Given the description of an element on the screen output the (x, y) to click on. 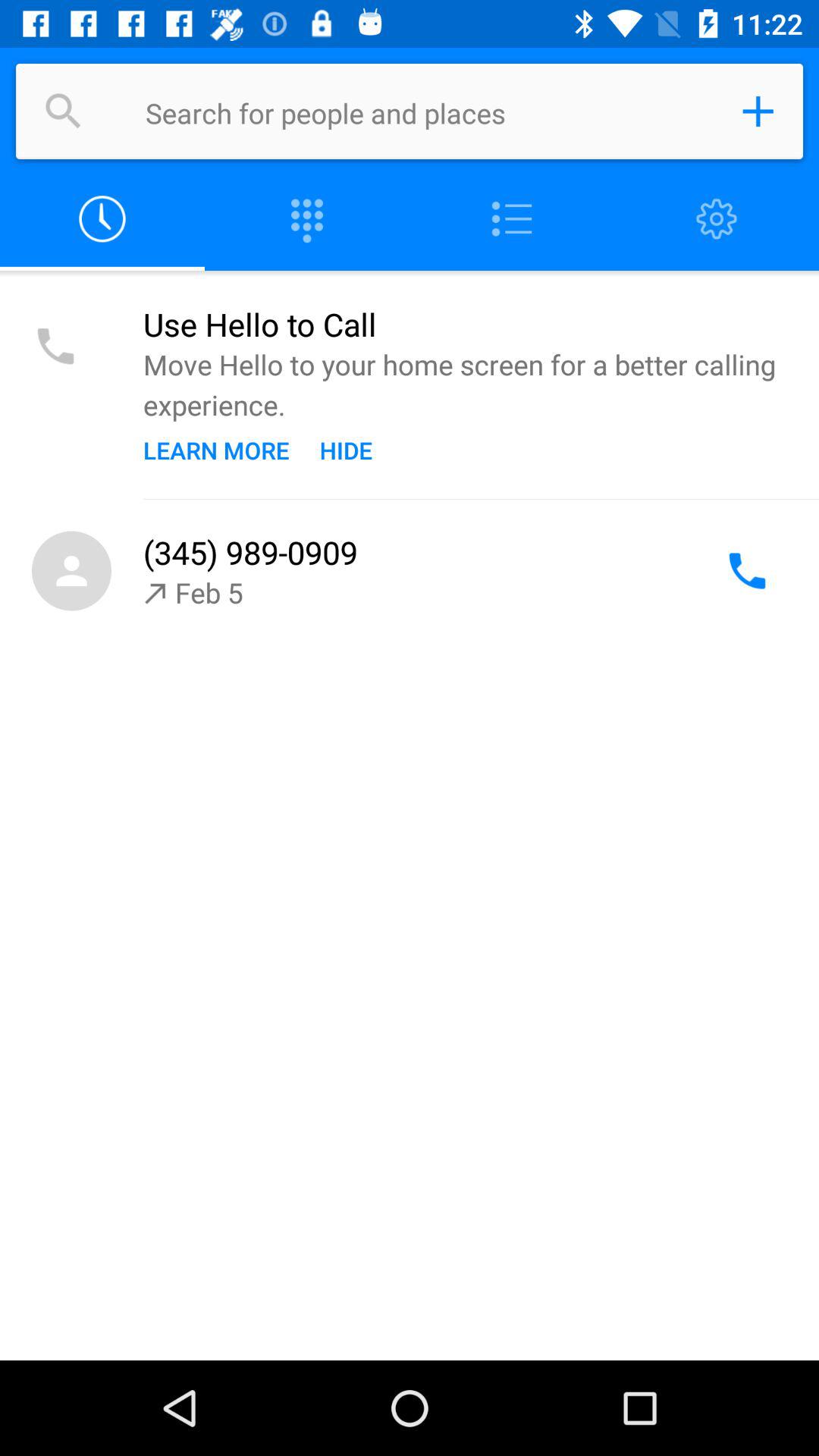
open item to the right of the learn more (345, 449)
